Given the description of an element on the screen output the (x, y) to click on. 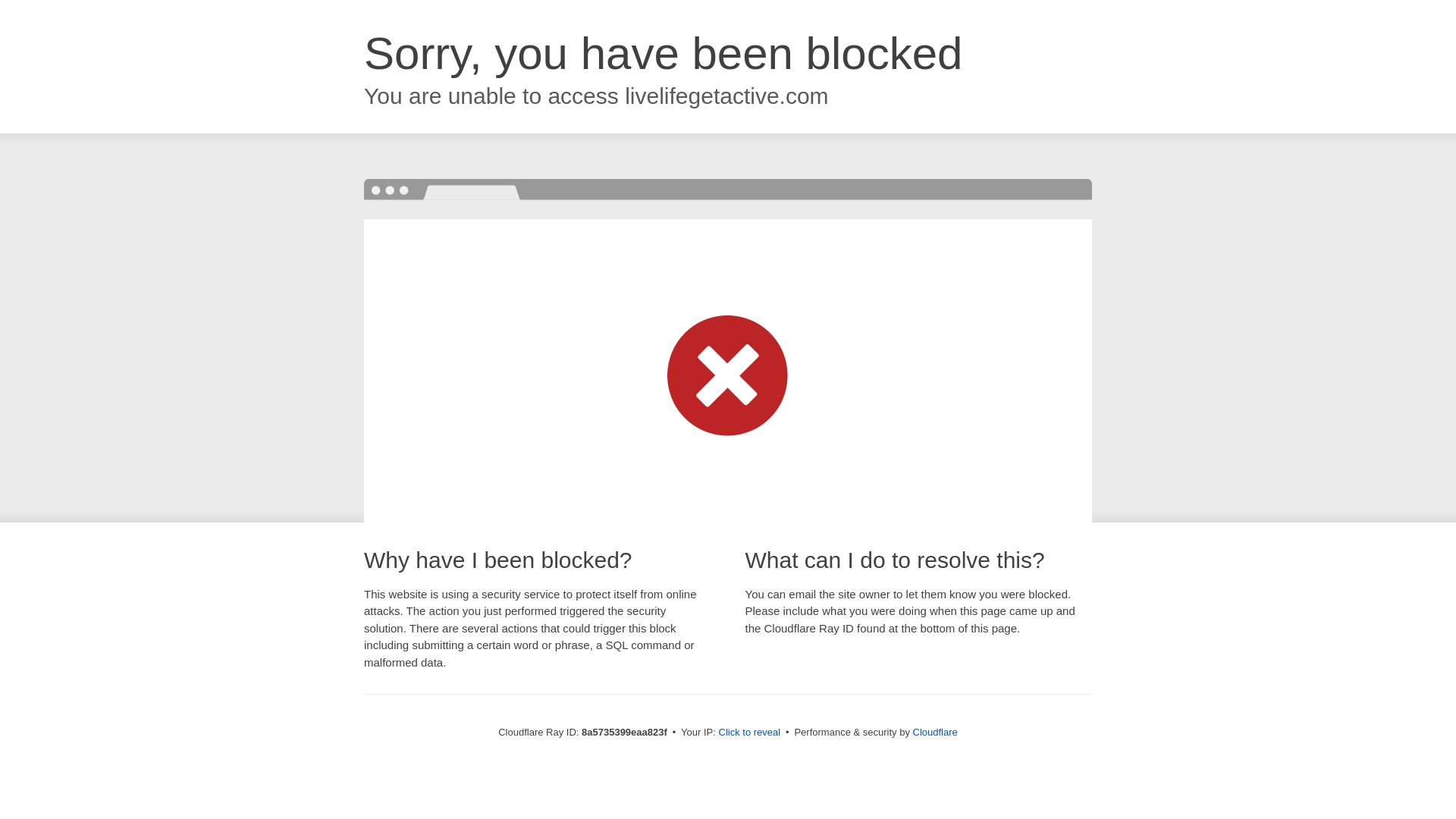
Cloudflare (935, 731)
Click to reveal (749, 732)
